Given the description of an element on the screen output the (x, y) to click on. 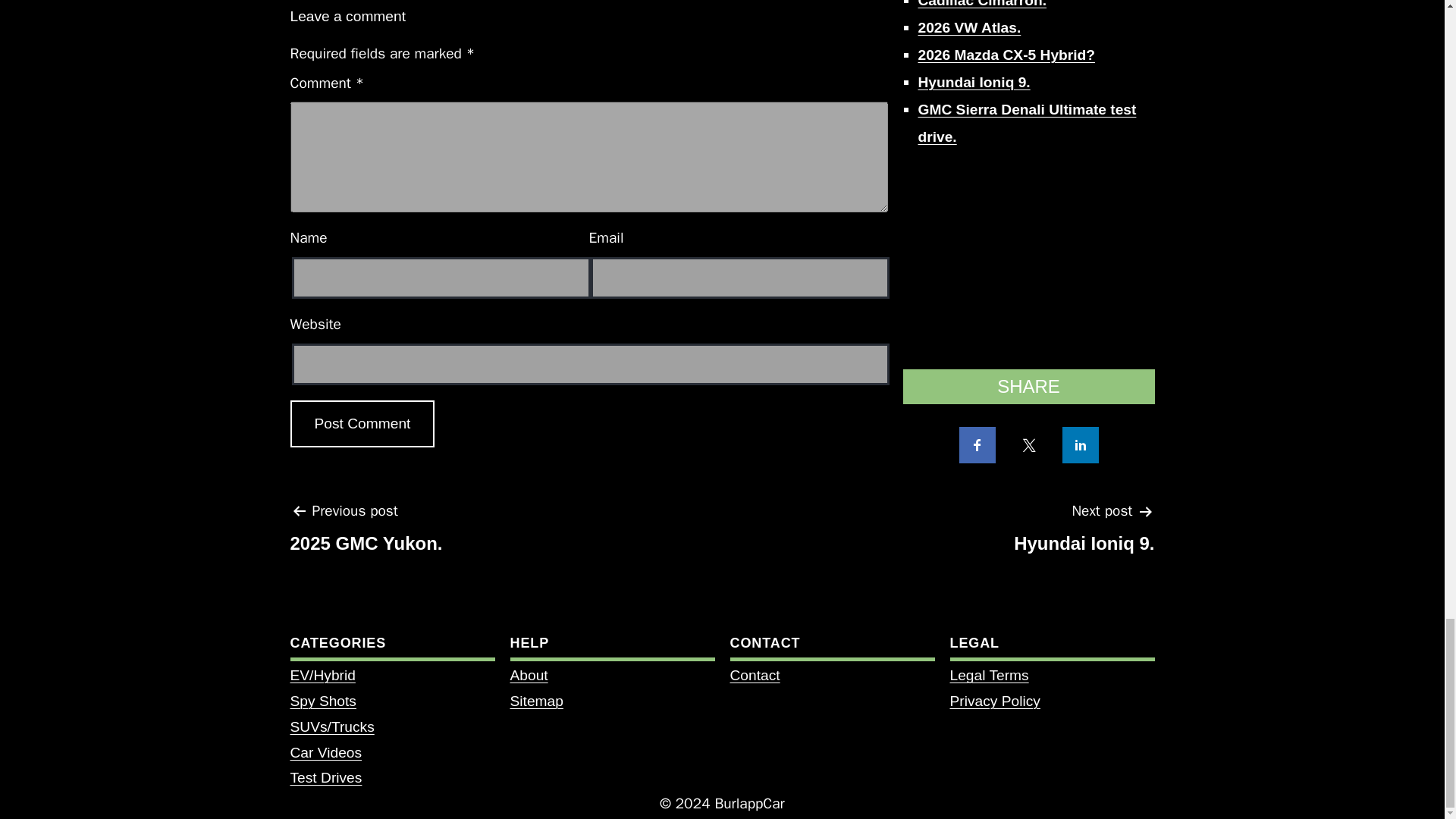
Contact (753, 675)
Sitemap (535, 700)
About (528, 675)
Spy Shots (322, 700)
Post Comment (361, 423)
Test Drives (325, 777)
Post Comment (361, 423)
Car Videos (325, 752)
